Given the description of an element on the screen output the (x, y) to click on. 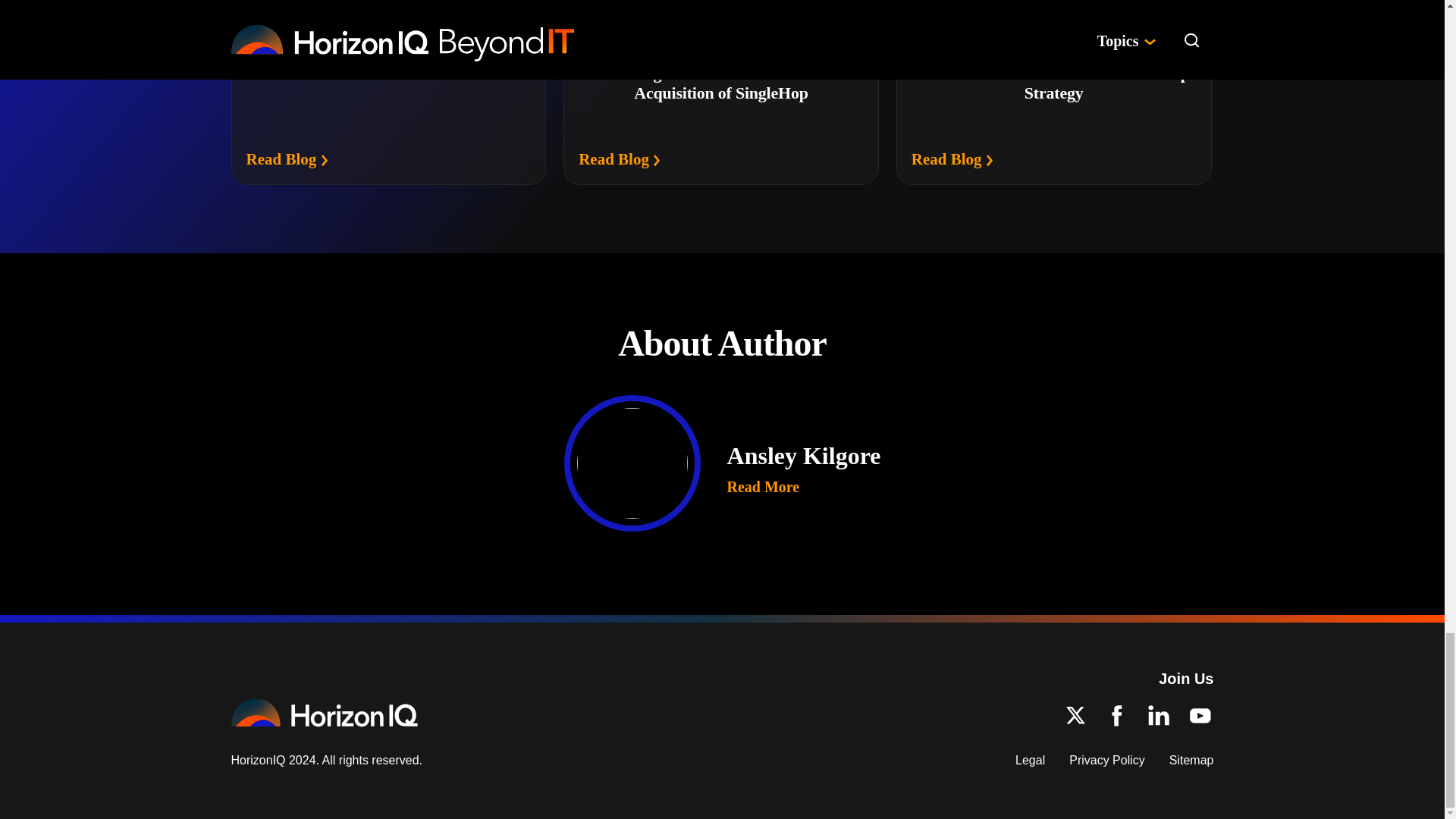
Read Blog (286, 159)
